Given the description of an element on the screen output the (x, y) to click on. 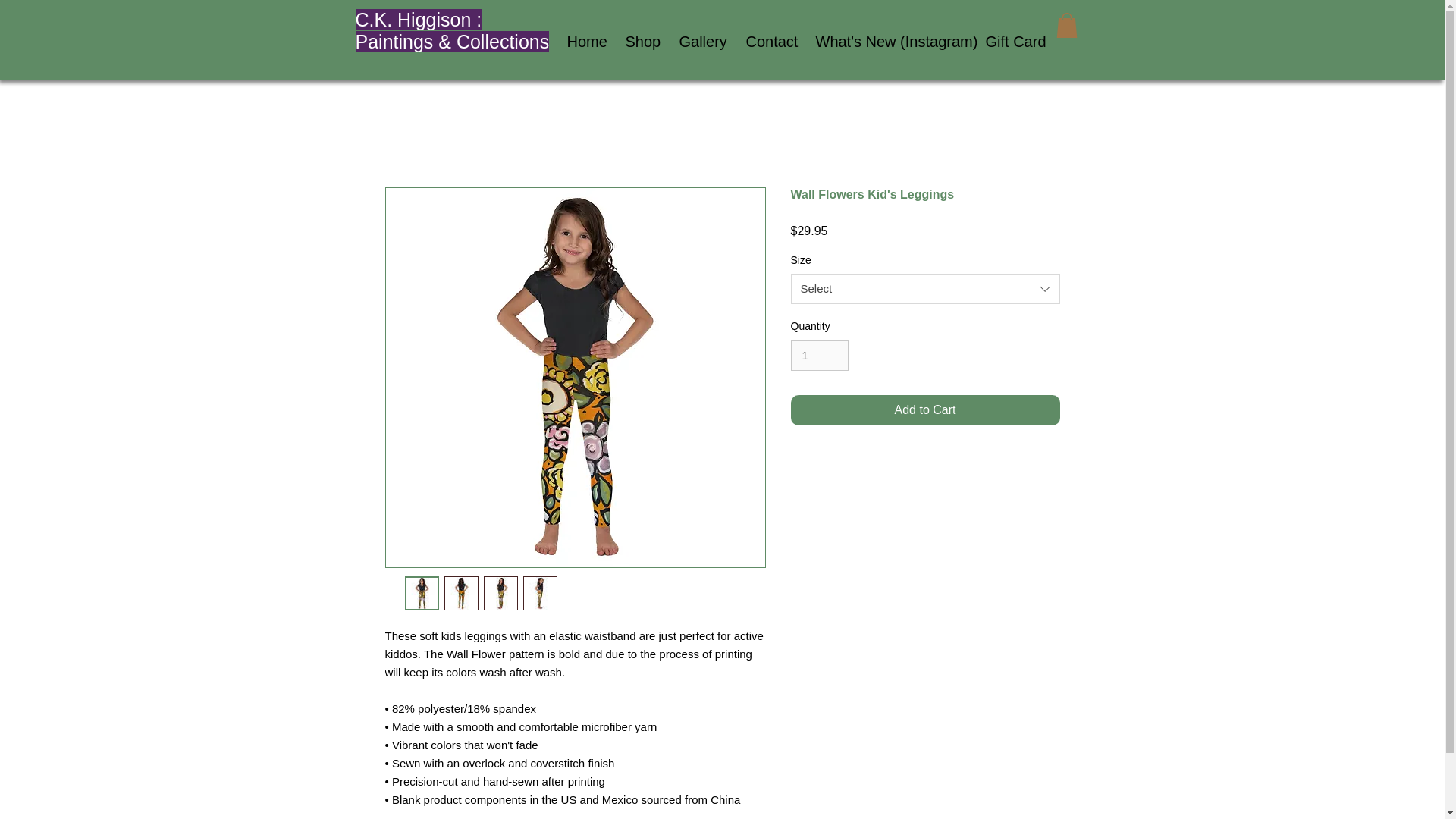
Home (583, 41)
1 (818, 355)
Gift Card (1011, 41)
Shop (641, 41)
Add to Cart (924, 409)
Gallery (699, 41)
Select (924, 288)
Contact (768, 41)
